Given the description of an element on the screen output the (x, y) to click on. 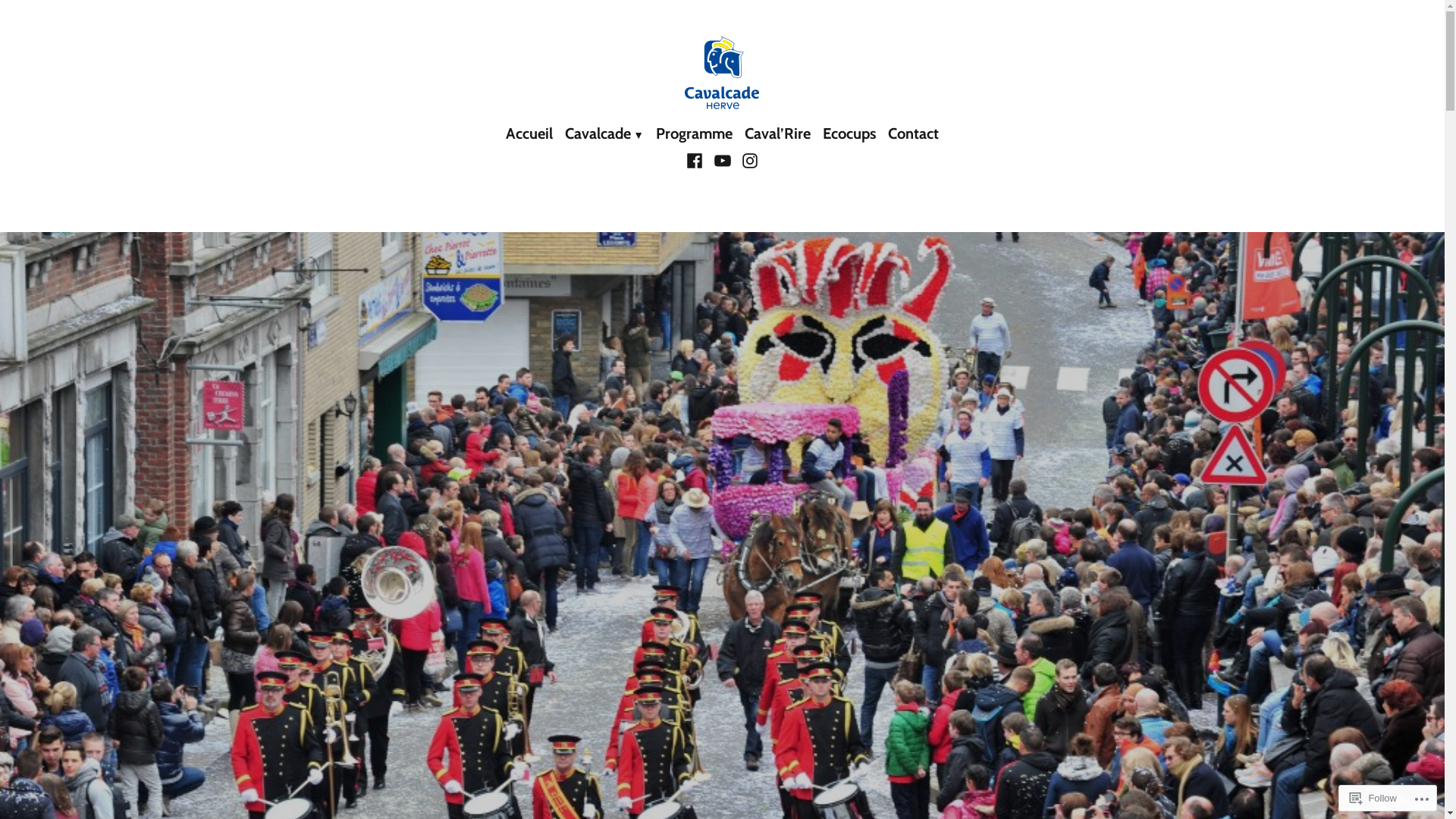
Ecocups Element type: text (848, 134)
Cavalcade Element type: text (603, 134)
Accueil Element type: text (531, 134)
Follow Element type: text (1372, 797)
Cavalcade de Herve Element type: text (418, 123)
Contact Element type: text (909, 134)
Programme Element type: text (693, 134)
